Given the description of an element on the screen output the (x, y) to click on. 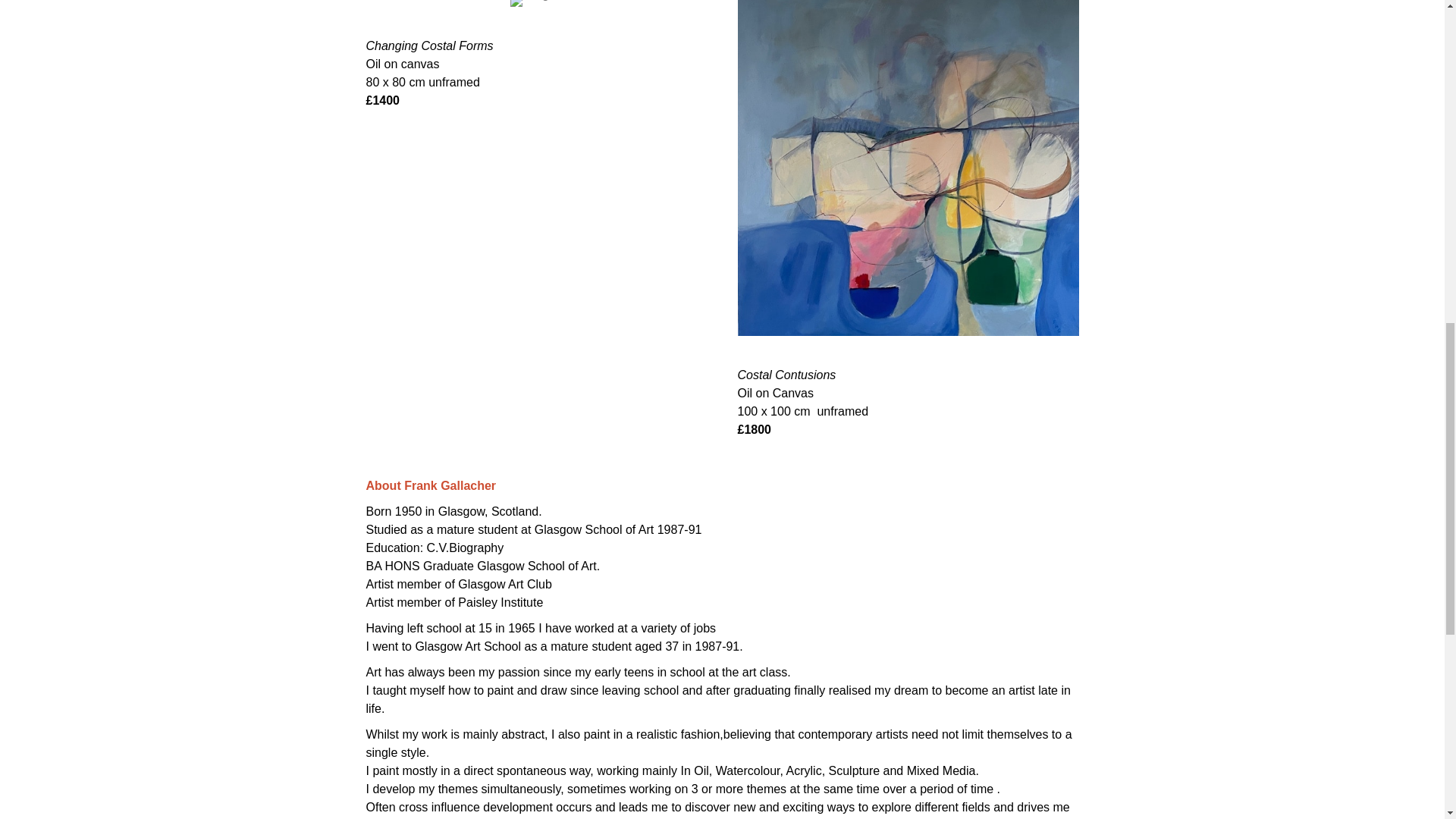
image1 (907, 167)
image3 (536, 3)
